Given the description of an element on the screen output the (x, y) to click on. 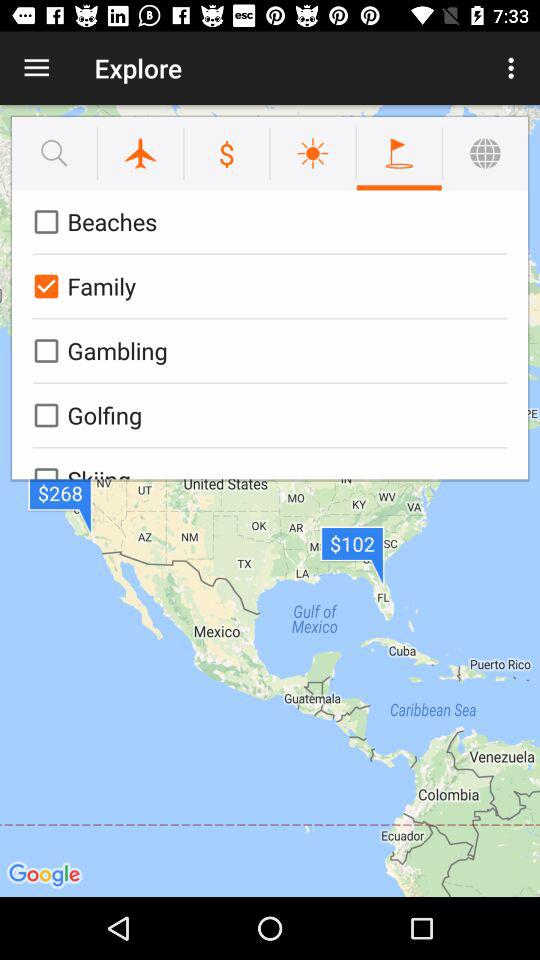
open item to the left of the explore (36, 68)
